Given the description of an element on the screen output the (x, y) to click on. 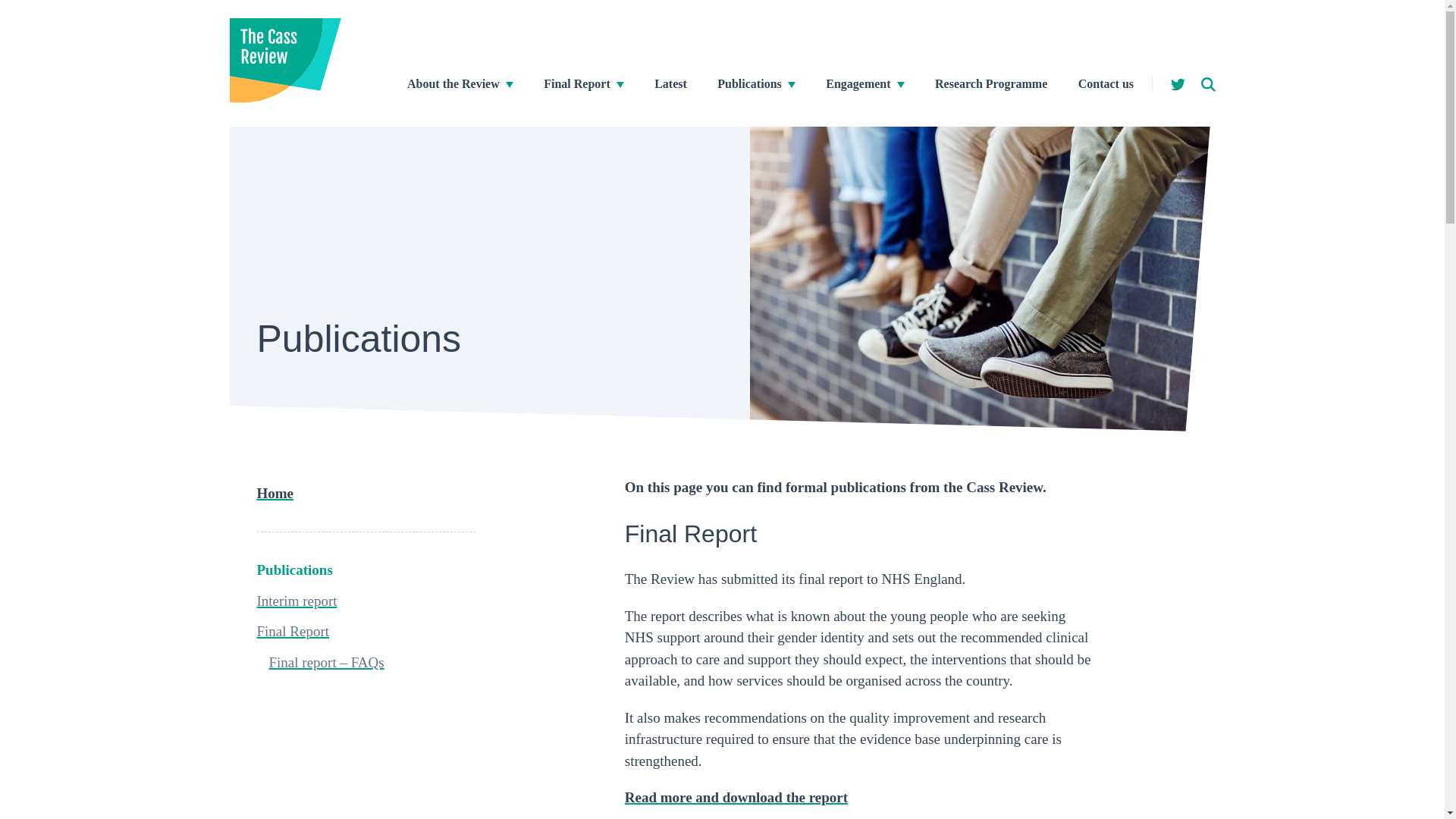
Final Report (576, 83)
Interim report (296, 600)
Publications (293, 569)
Skip to main content (11, 7)
Publications (748, 83)
Read more and download the report (735, 797)
About the Review (453, 83)
Contact us (1106, 83)
Home (275, 493)
Latest (670, 83)
